Given the description of an element on the screen output the (x, y) to click on. 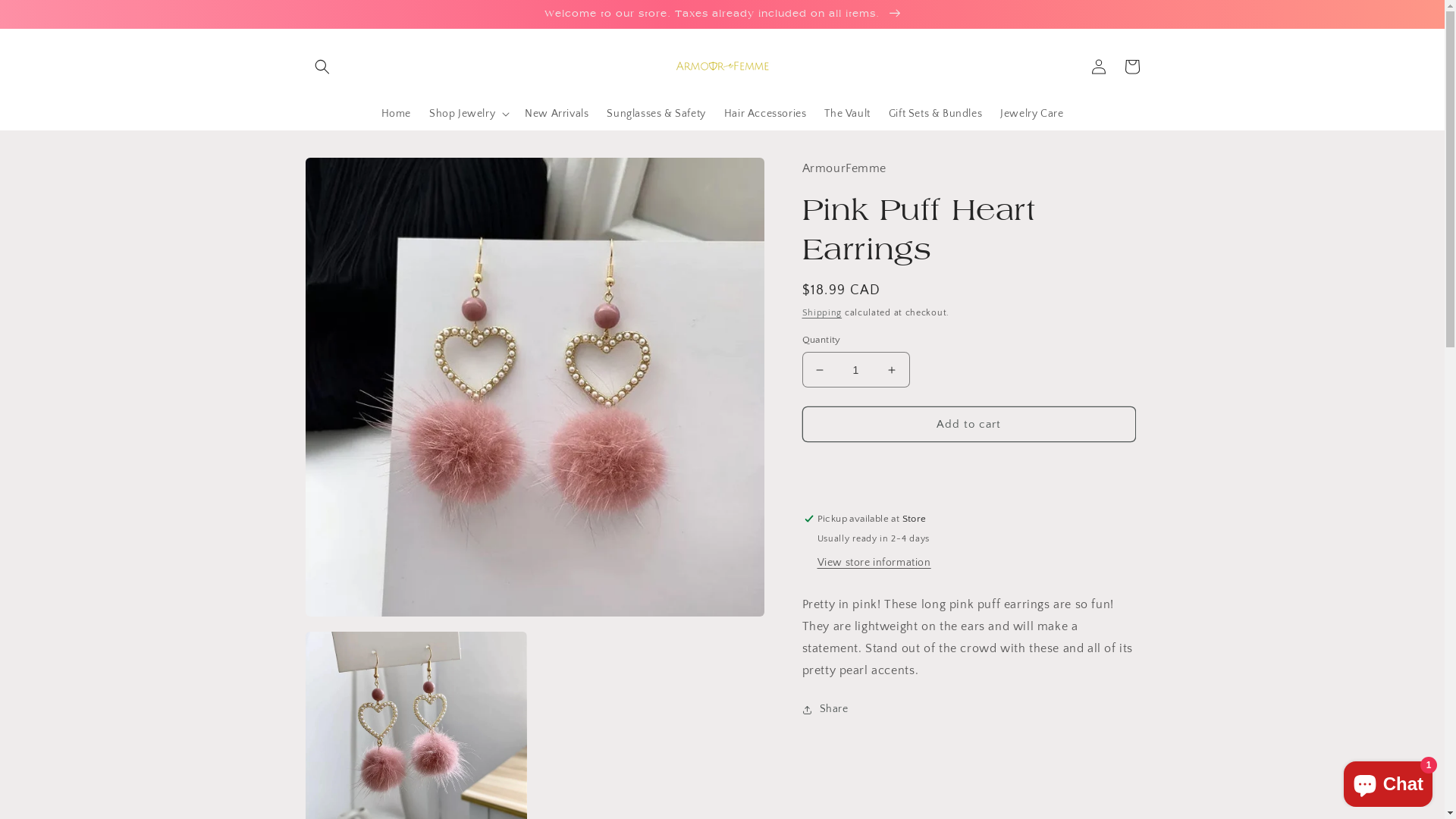
Shipping Element type: text (822, 312)
Increase quantity for Pink Puff Heart Earrings Element type: text (892, 369)
Log in Element type: text (1097, 66)
Add to cart Element type: text (968, 424)
Welcome to our store. Taxes already included on all items. Element type: text (722, 14)
Jewelry Care Element type: text (1031, 113)
https://www.armourfemme.ca/products/pink-puff-earring Element type: text (892, 760)
New Arrivals Element type: text (556, 113)
Skip to product information Element type: text (350, 174)
View store information Element type: text (874, 563)
Home Element type: text (396, 113)
Cart Element type: text (1131, 66)
Sunglasses & Safety Element type: text (655, 113)
The Vault Element type: text (846, 113)
Shopify online store chat Element type: hover (1388, 780)
Decrease quantity for Pink Puff Heart Earrings Element type: text (819, 369)
Gift Sets & Bundles Element type: text (935, 113)
Hair Accessories Element type: text (765, 113)
